Given the description of an element on the screen output the (x, y) to click on. 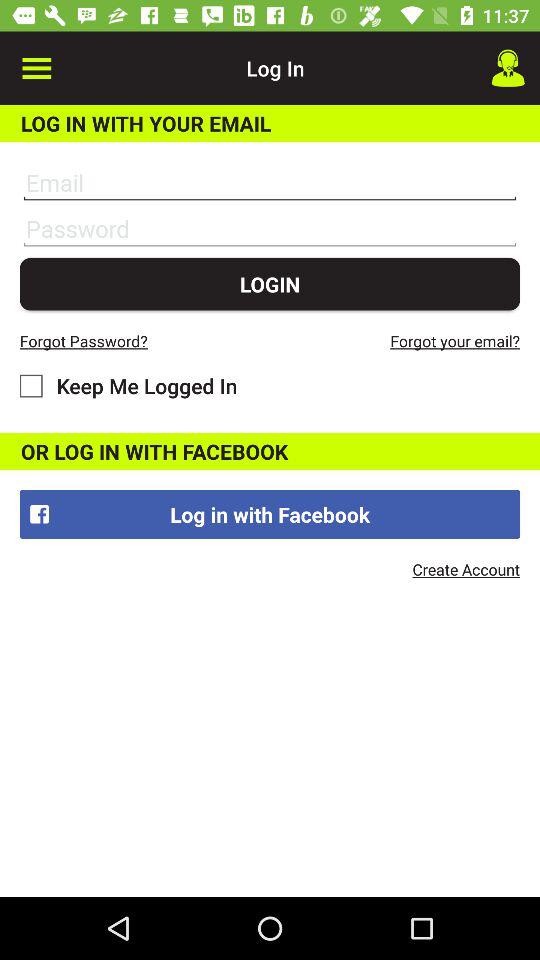
select the icon below forgot password? icon (128, 385)
